Given the description of an element on the screen output the (x, y) to click on. 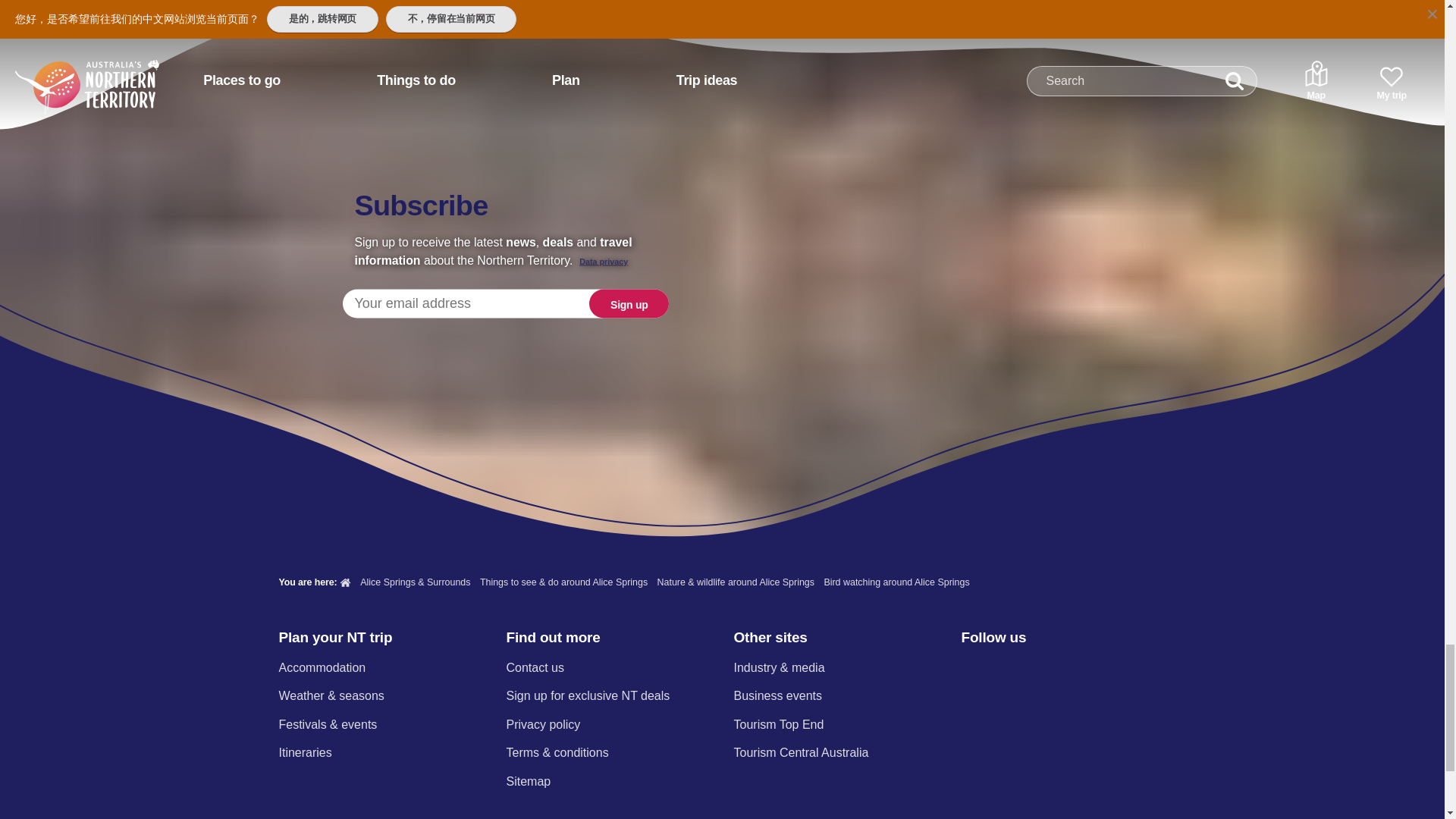
Trip Advisor (1129, 669)
Twitter (1050, 669)
Facebook (970, 669)
YouTube (1089, 669)
Instagram (1009, 669)
